Given the description of an element on the screen output the (x, y) to click on. 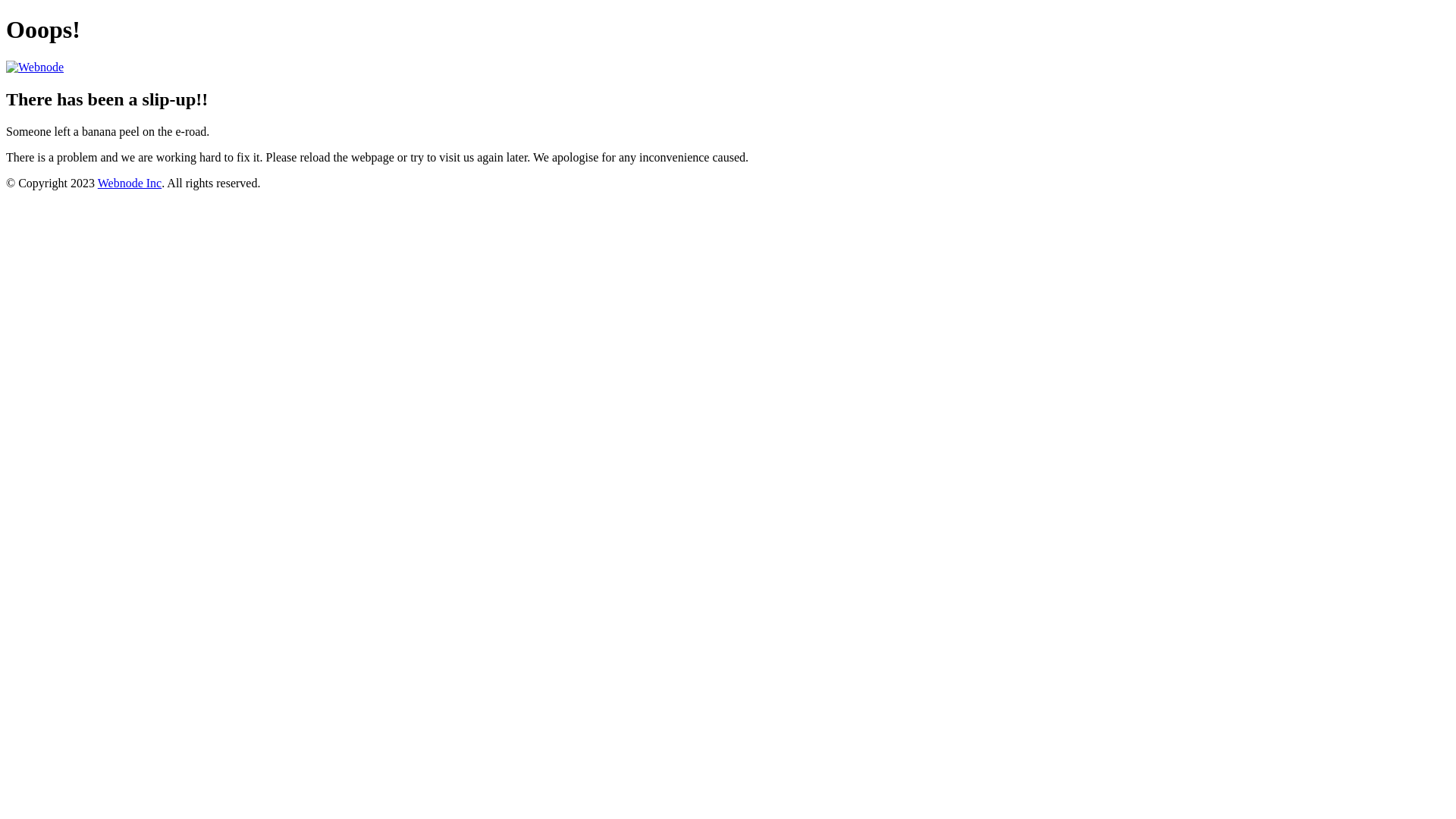
Webnode Inc Element type: text (129, 182)
